Given the description of an element on the screen output the (x, y) to click on. 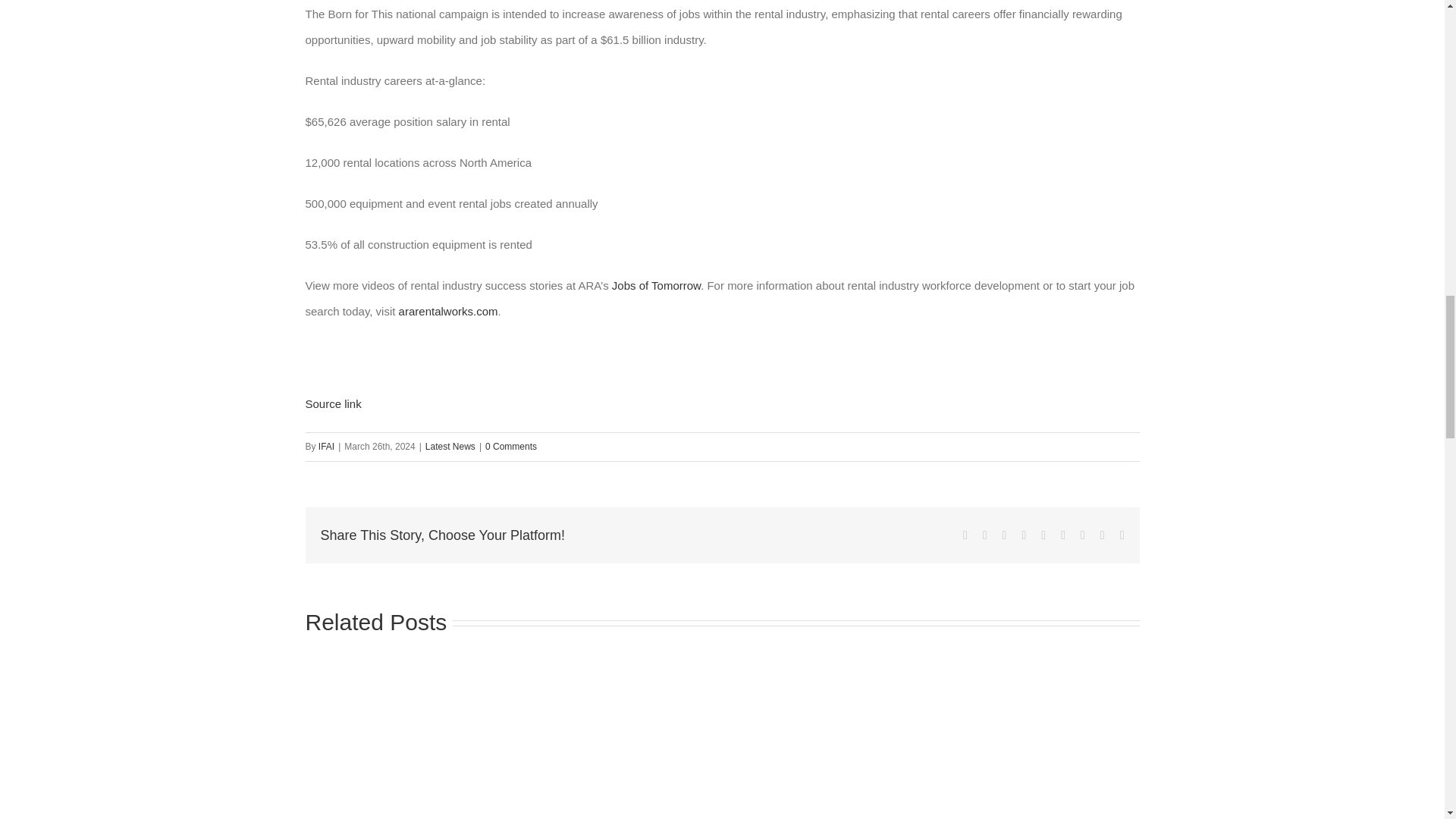
IFAI (326, 446)
Source link (332, 403)
0 Comments (510, 446)
Jobs of Tomorrow (655, 285)
Posts by IFAI (326, 446)
ararentalworks.com (447, 310)
Latest News (450, 446)
